Given the description of an element on the screen output the (x, y) to click on. 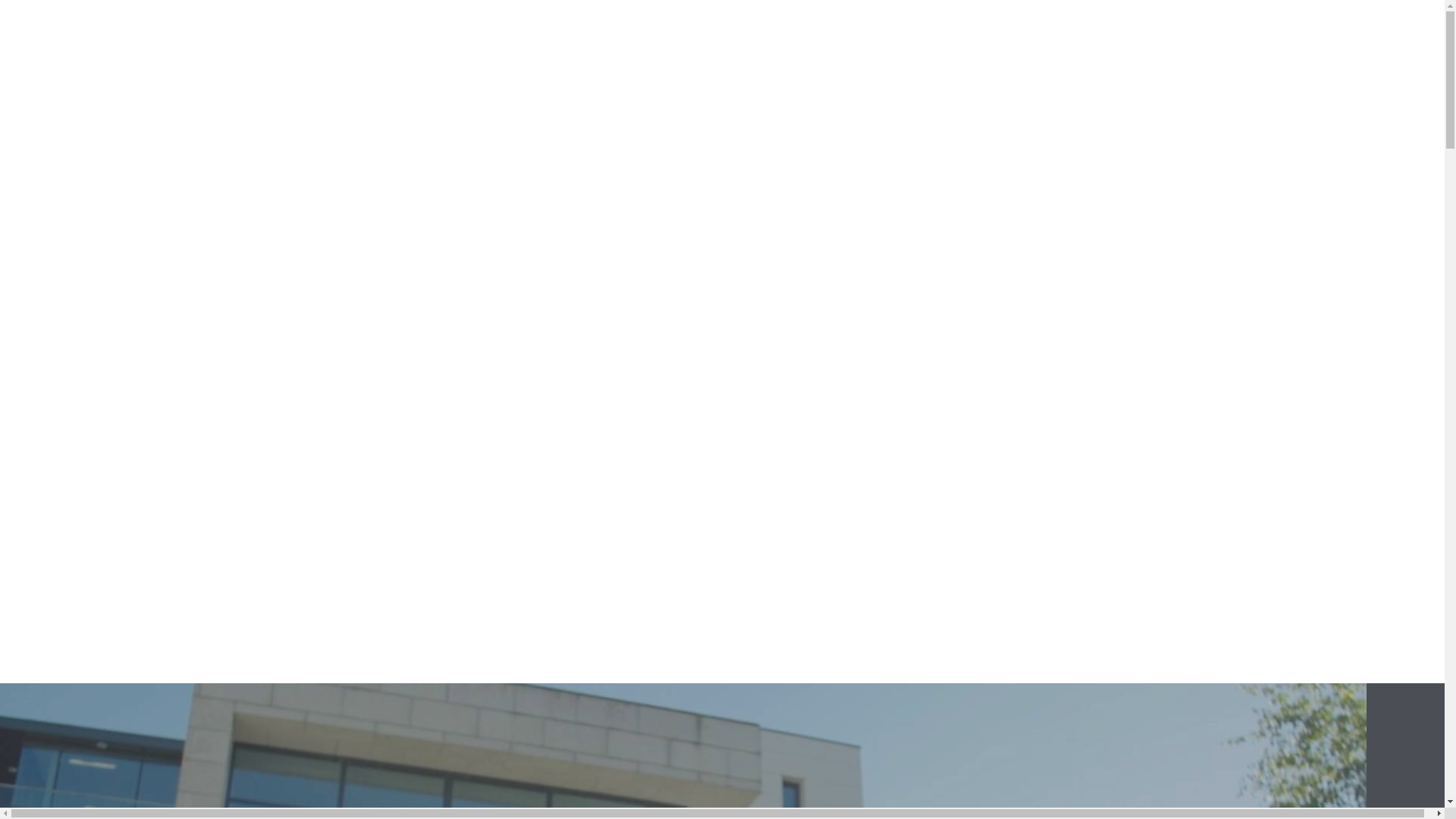
Get In Touch (1019, 108)
Our Services (748, 108)
Sectors (885, 108)
Blog (628, 108)
Our Work (528, 108)
About Us (403, 108)
